Given the description of an element on the screen output the (x, y) to click on. 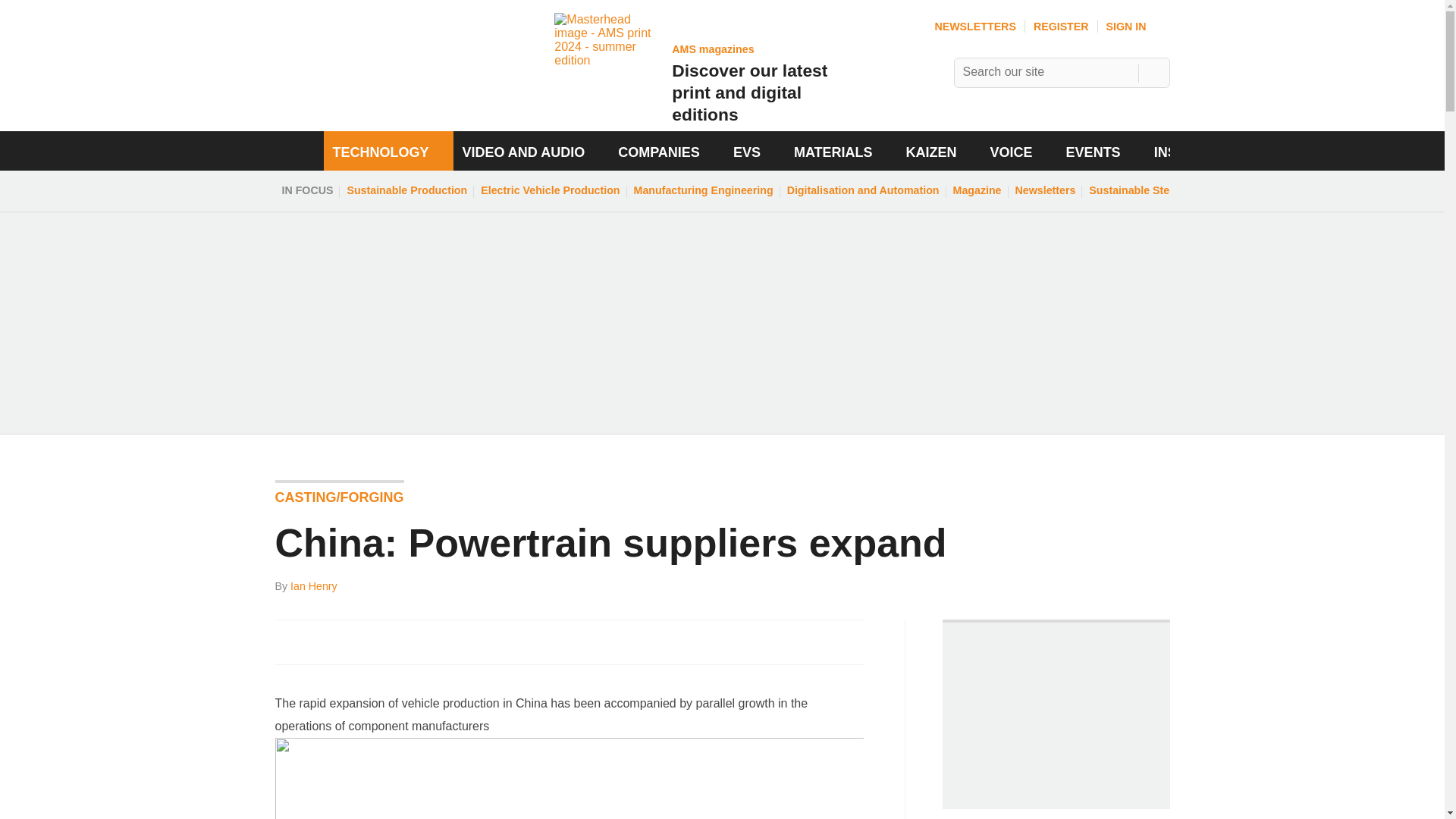
NEWSLETTERS (974, 26)
Magazine (977, 190)
Electric Vehicle Production (550, 190)
SIGN IN (1138, 26)
Share this on Linked in (352, 641)
Manufacturing Engineering (703, 190)
Share this on Facebook (288, 641)
Sustainable Steel Survey (1152, 190)
Automotive Manufacturing Solutions (373, 98)
Email this article (386, 641)
